Given the description of an element on the screen output the (x, y) to click on. 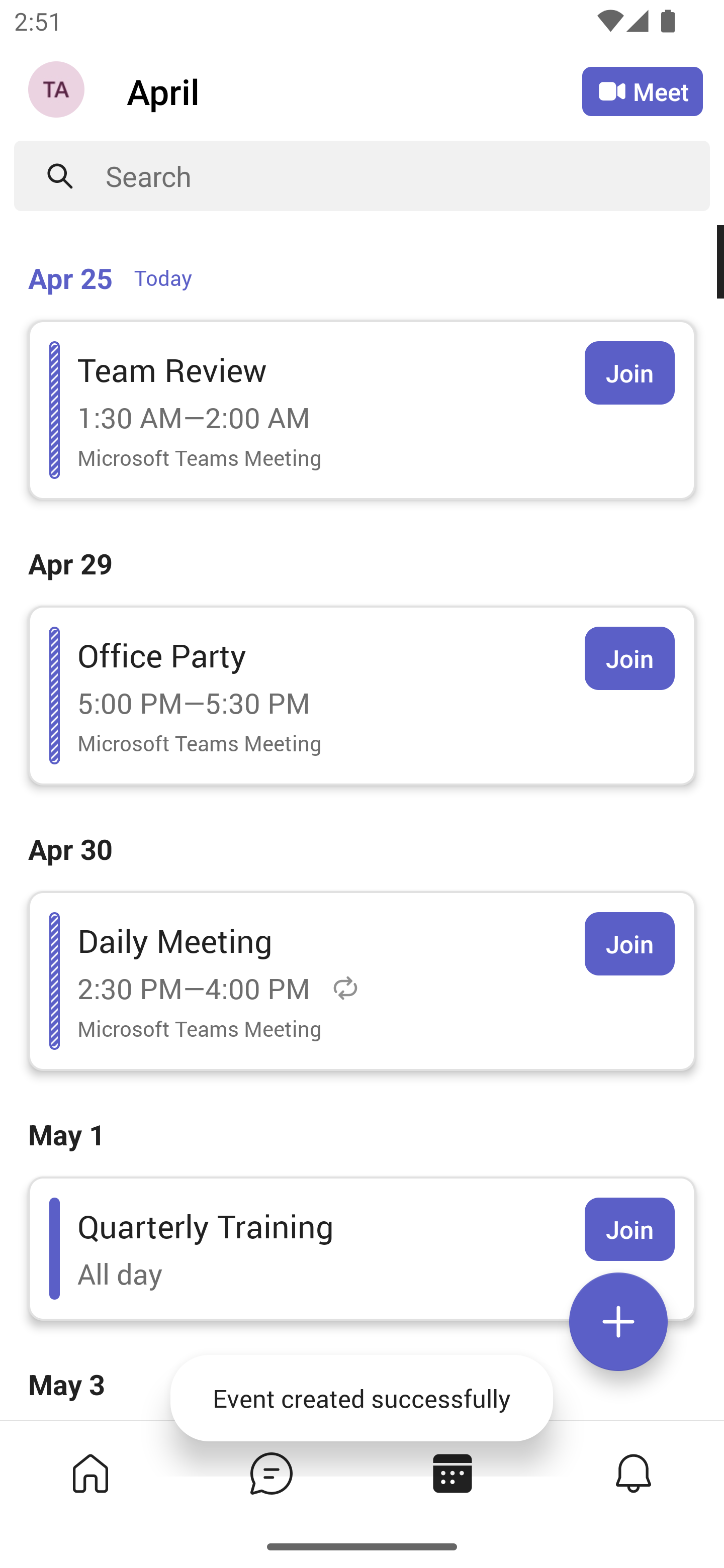
Navigation (58, 91)
Meet Meet now or join with an ID (642, 91)
April April Calendar Agenda View (354, 90)
Search (407, 176)
Join (629, 372)
Join (629, 658)
Join (629, 943)
Join (629, 1228)
Expand meetings menu (618, 1321)
Home tab,1 of 4, not selected (90, 1472)
Chat tab,2 of 4, not selected (271, 1472)
Calendar tab, 3 of 4 (452, 1472)
Activity tab,4 of 4, not selected (633, 1472)
